Given the description of an element on the screen output the (x, y) to click on. 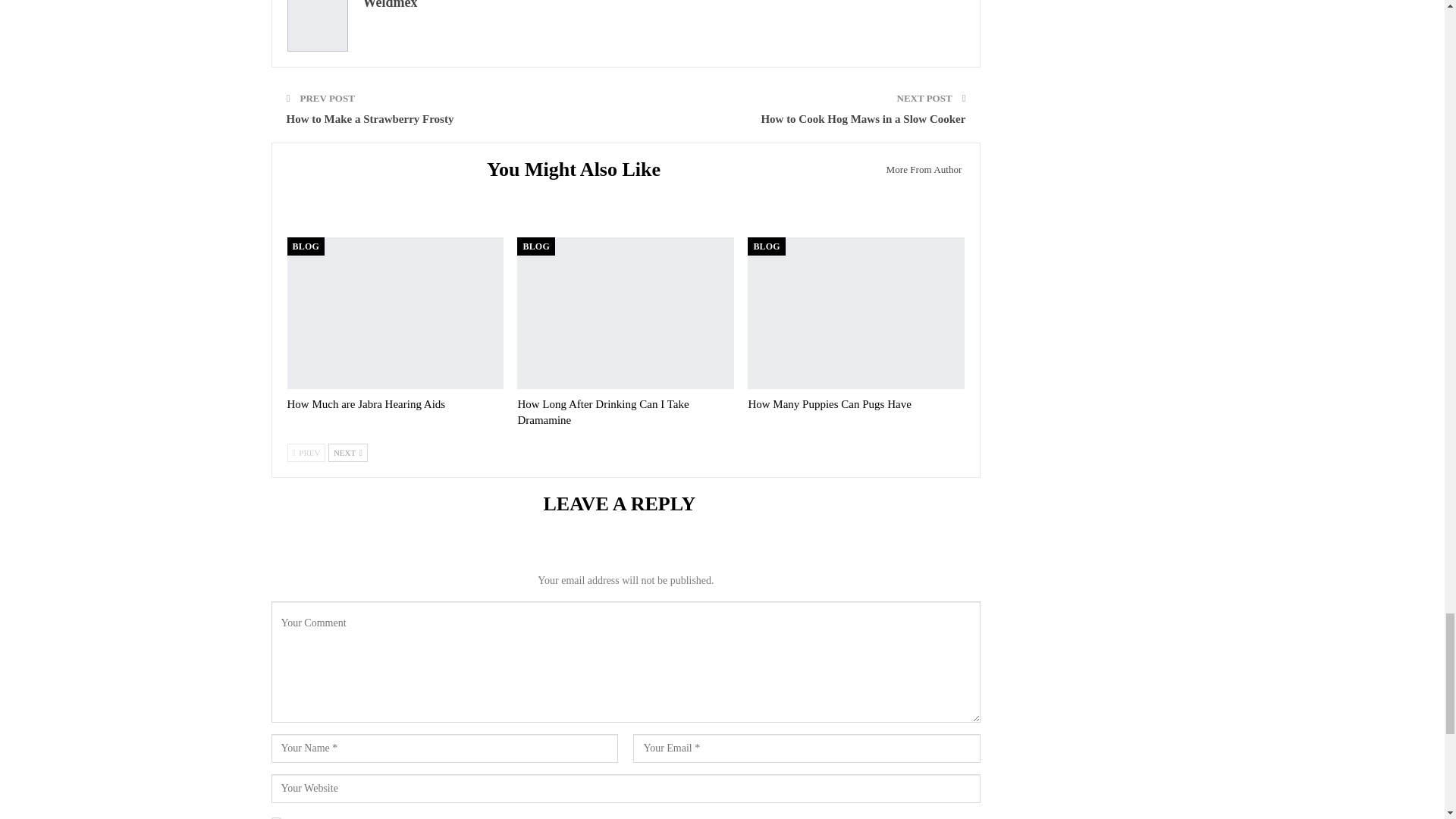
You Might Also Like (579, 171)
How Much are Jabra Hearing Aids (365, 404)
How Long After Drinking Can I Take Dramamine (602, 411)
How Much are Jabra Hearing Aids (394, 313)
Weldmex (389, 4)
More From Author (919, 169)
How to Make a Strawberry Frosty (370, 119)
How Long After Drinking Can I Take Dramamine (624, 313)
How Many Puppies Can Pugs Have (855, 313)
How to Cook Hog Maws in a Slow Cooker (862, 119)
How Many Puppies Can Pugs Have (829, 404)
